Given the description of an element on the screen output the (x, y) to click on. 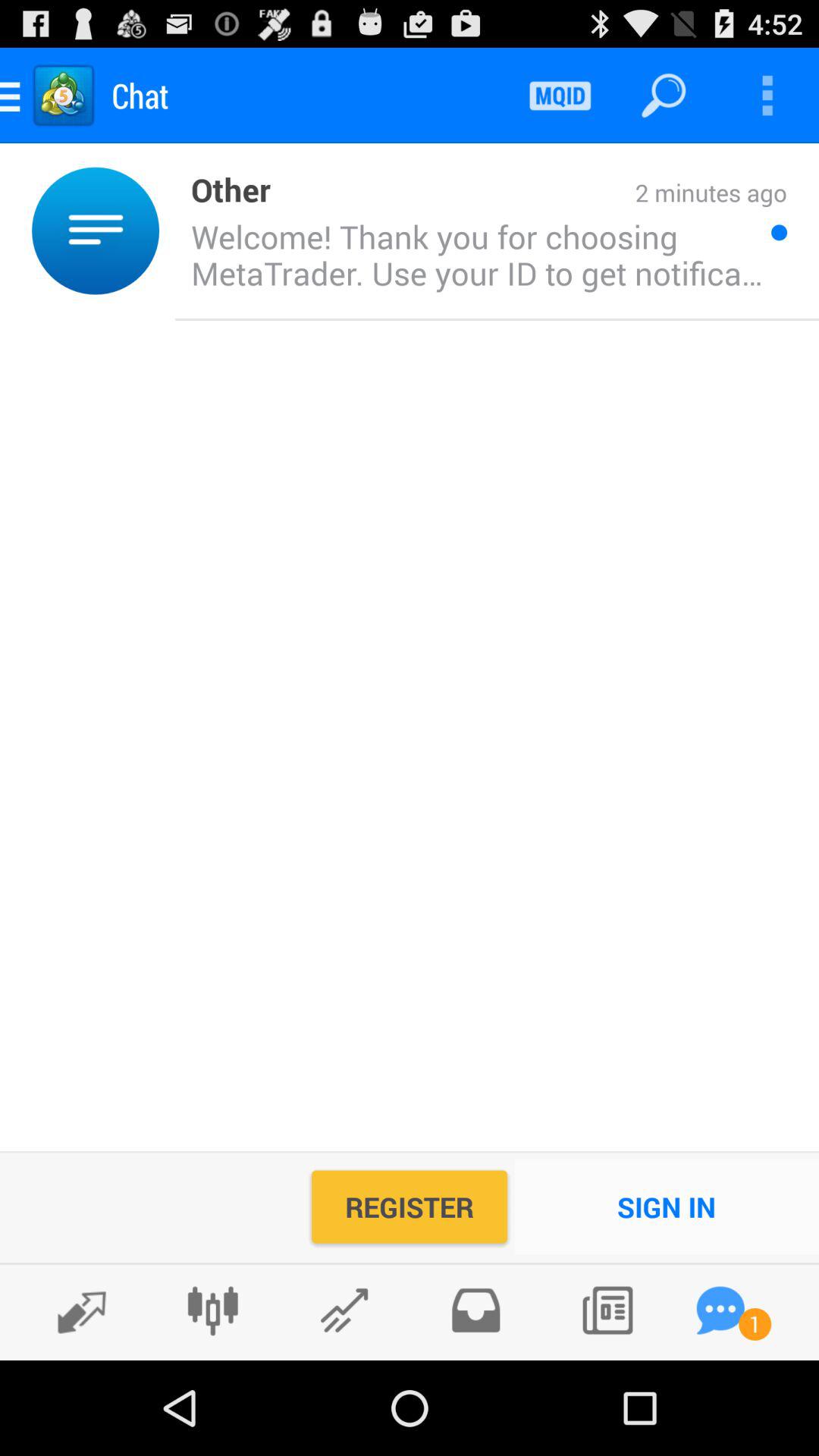
choose item next to other icon (167, 230)
